Given the description of an element on the screen output the (x, y) to click on. 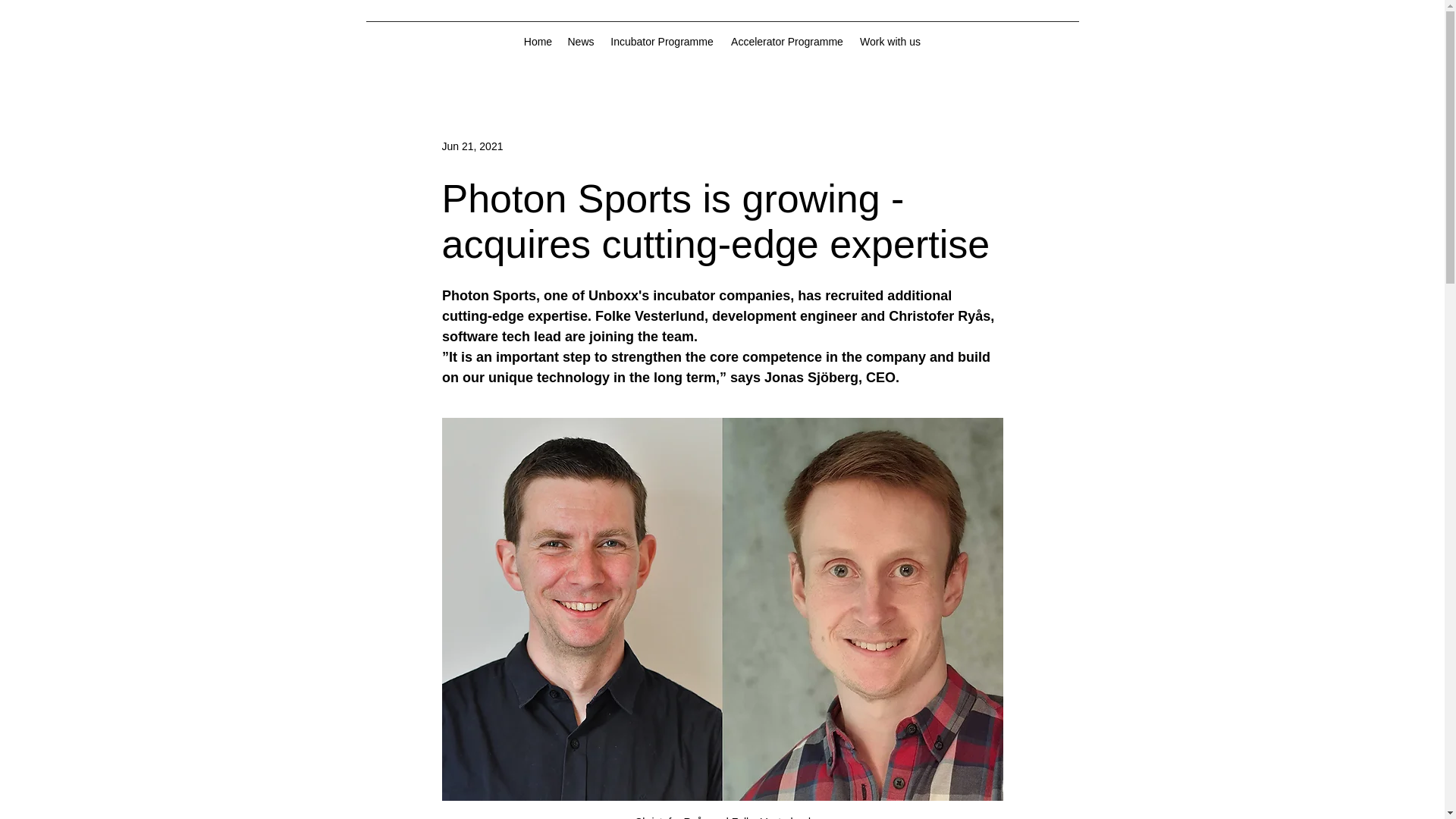
Work with us (889, 41)
Incubator Programme (662, 41)
Home (537, 41)
Jun 21, 2021 (471, 145)
Accelerator Programme (786, 41)
News (580, 41)
